Given the description of an element on the screen output the (x, y) to click on. 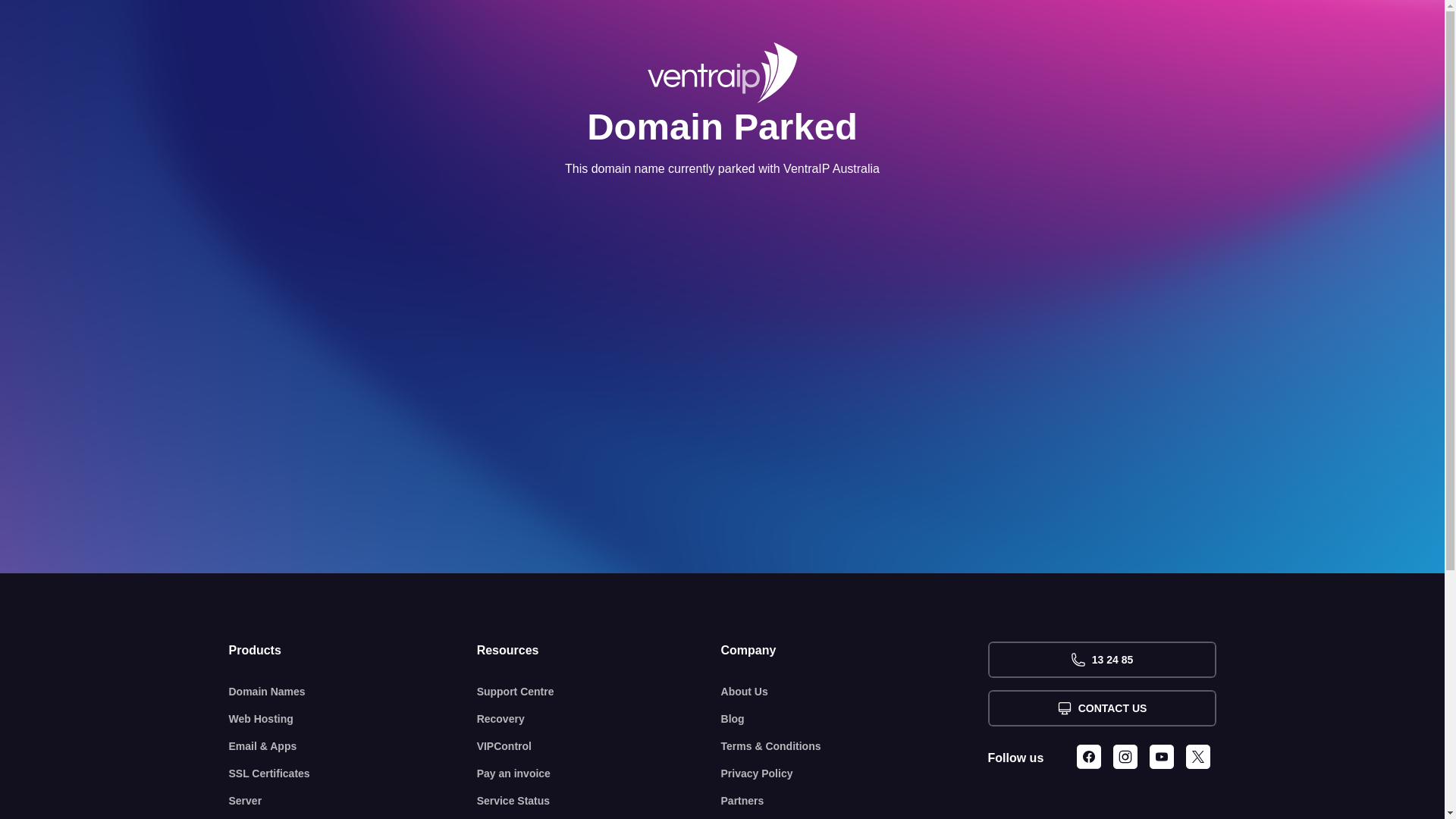
Web Hosting Element type: text (352, 718)
Partners Element type: text (854, 800)
Recovery Element type: text (598, 718)
13 24 85 Element type: text (1101, 659)
Domain Names Element type: text (352, 691)
About Us Element type: text (854, 691)
Blog Element type: text (854, 718)
Server Element type: text (352, 800)
SSL Certificates Element type: text (352, 773)
CONTACT US Element type: text (1101, 708)
Support Centre Element type: text (598, 691)
Service Status Element type: text (598, 800)
Pay an invoice Element type: text (598, 773)
Privacy Policy Element type: text (854, 773)
VIPControl Element type: text (598, 745)
Email & Apps Element type: text (352, 745)
Terms & Conditions Element type: text (854, 745)
